Given the description of an element on the screen output the (x, y) to click on. 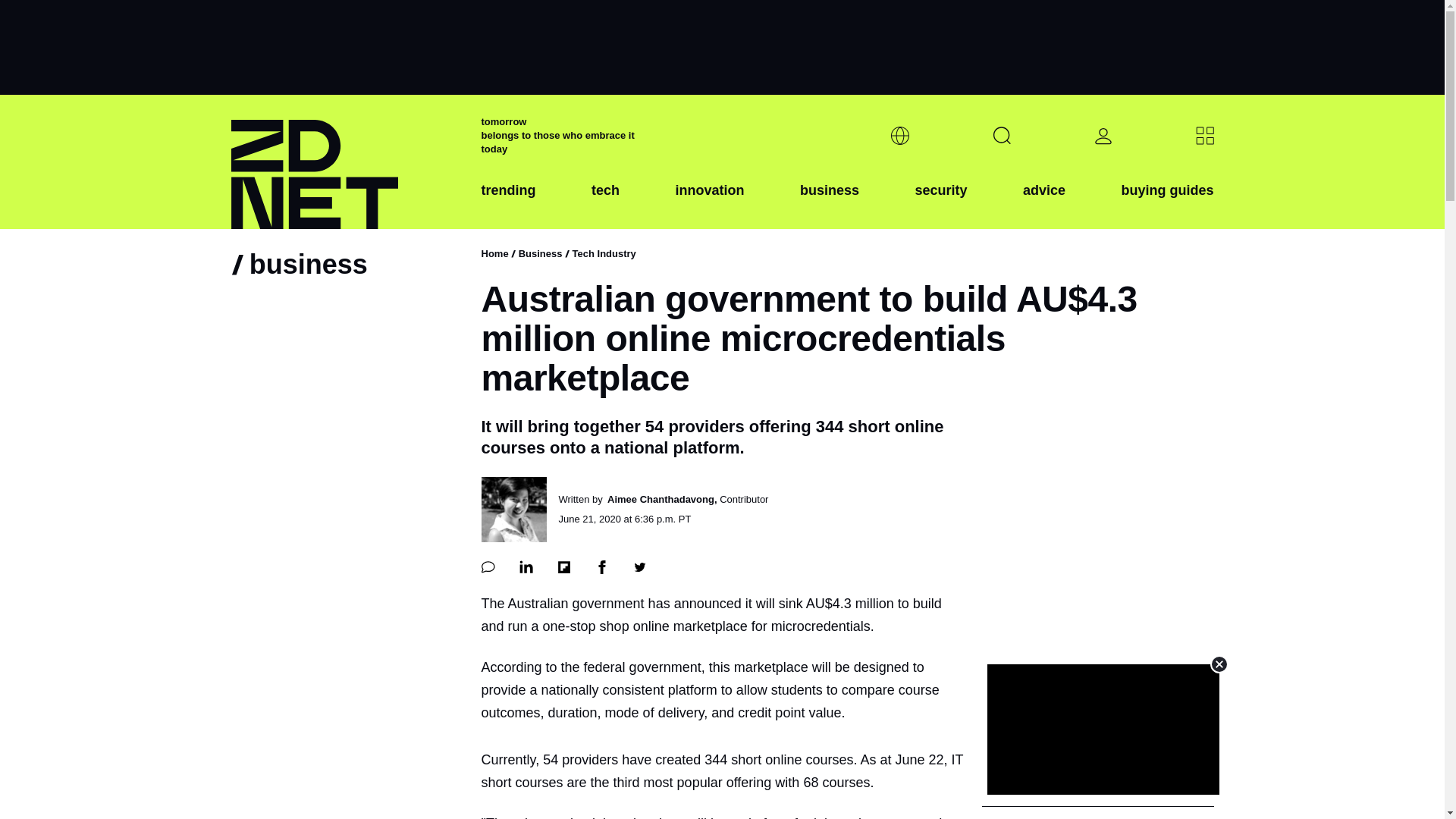
trending (507, 202)
ZDNET (346, 162)
